Given the description of an element on the screen output the (x, y) to click on. 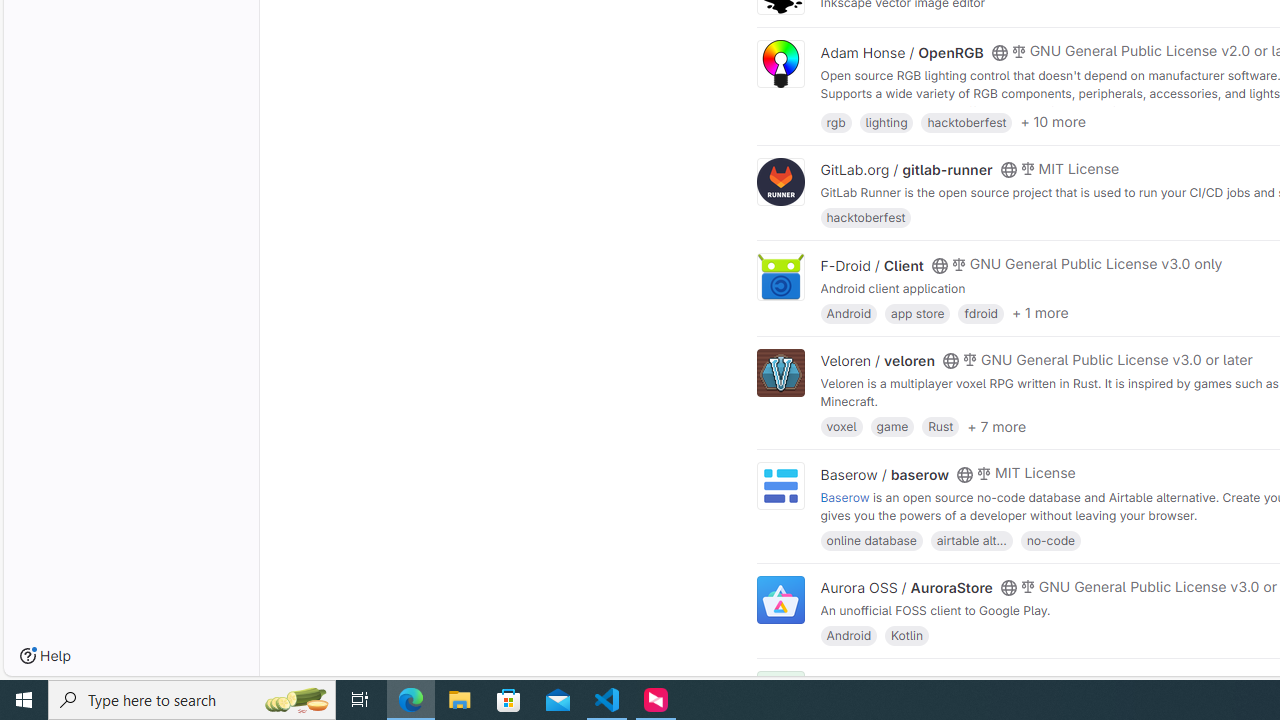
voxel (841, 426)
Rust (940, 426)
hacktoberfest (866, 217)
Kotlin (907, 634)
rgb (836, 120)
Aurora OSS / AuroraStore (906, 587)
Adam Honse / OpenRGB (902, 52)
lighting (886, 120)
https://openrgb.org (989, 110)
airtable alt... (971, 539)
